Given the description of an element on the screen output the (x, y) to click on. 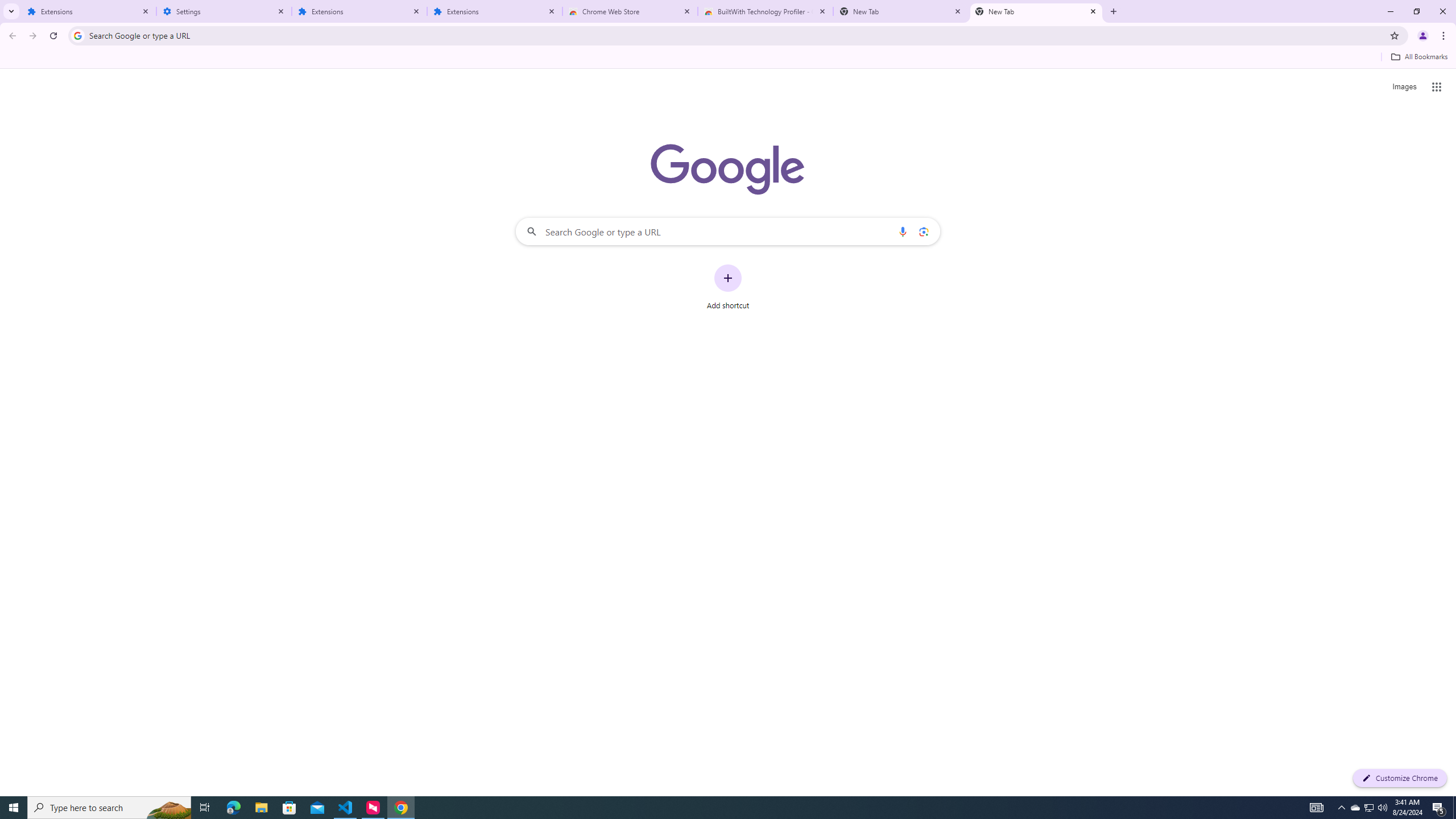
All Bookmarks (1418, 56)
Bookmarks (728, 58)
Settings (224, 11)
Add shortcut (727, 287)
Chrome Web Store (630, 11)
Customize Chrome (1399, 778)
Search Google or type a URL (727, 230)
